Given the description of an element on the screen output the (x, y) to click on. 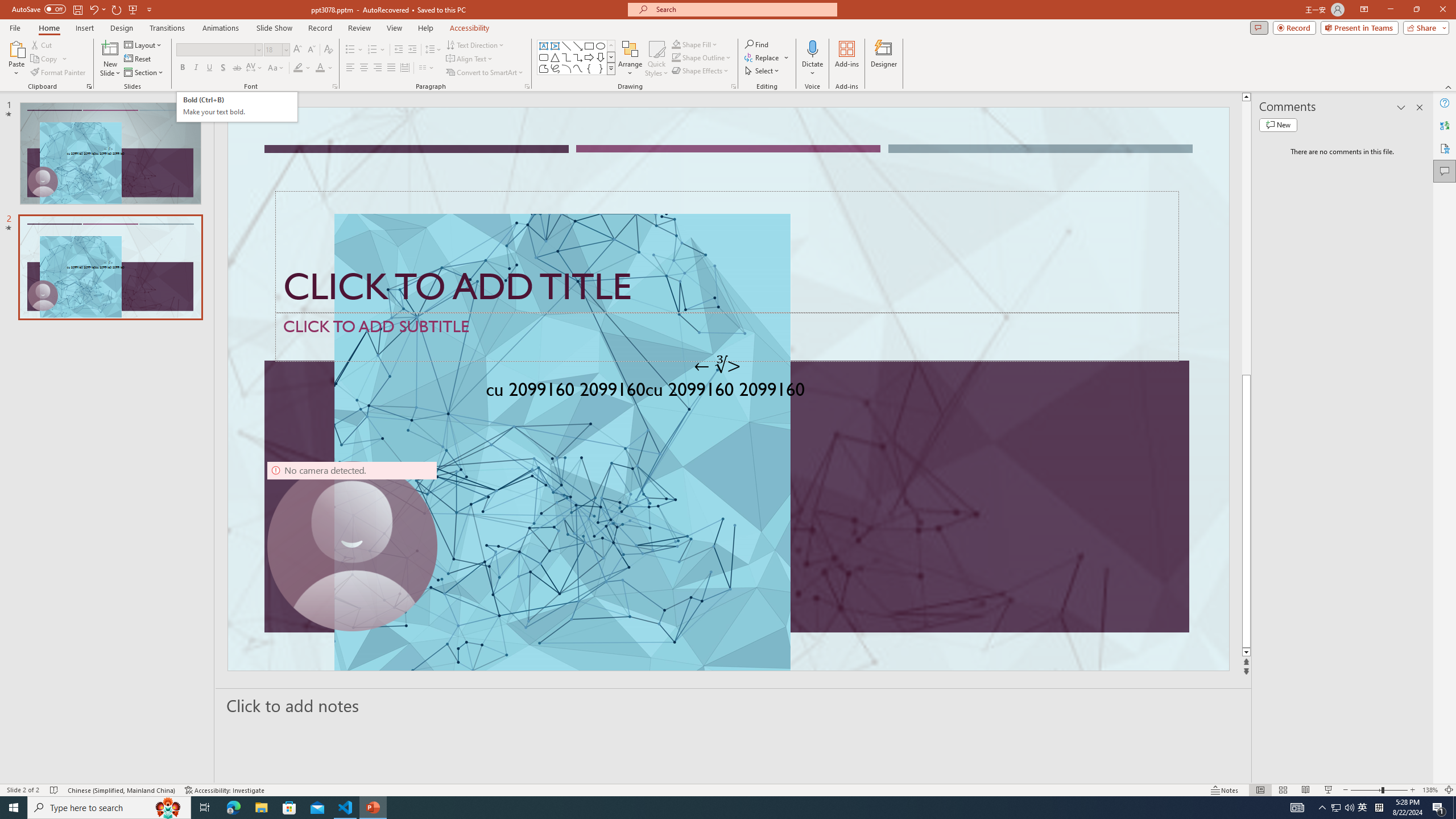
Close pane (1419, 107)
Accessibility (1444, 147)
Line up (1245, 96)
Dictate (812, 48)
Office Clipboard... (88, 85)
Freeform: Scribble (554, 68)
New Slide (110, 48)
Comments (1259, 27)
Slide Sorter (1282, 790)
Vertical Text Box (554, 45)
Line (566, 45)
Numbering (372, 49)
Align Right (377, 67)
